Given the description of an element on the screen output the (x, y) to click on. 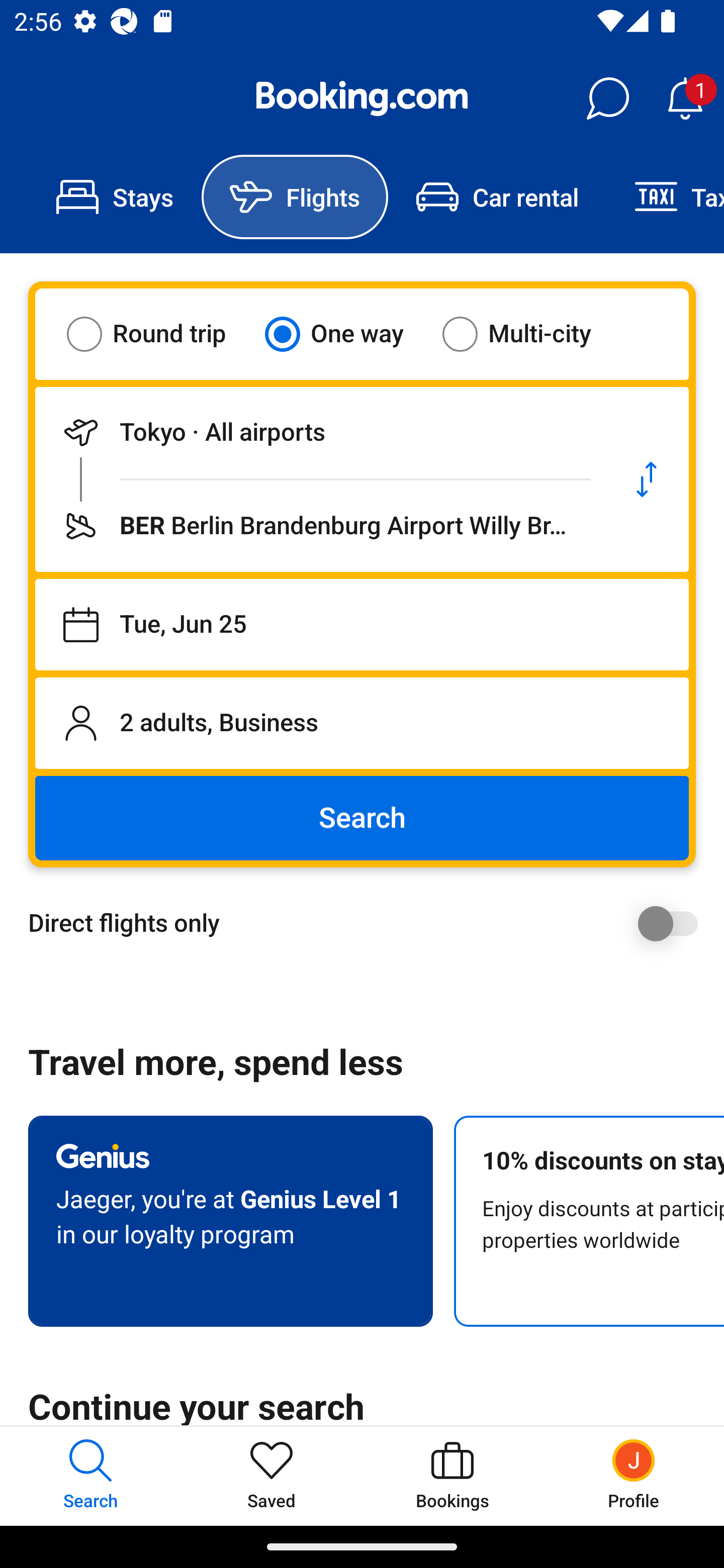
Messages (607, 98)
Notifications (685, 98)
Stays (114, 197)
Flights (294, 197)
Car rental (497, 197)
Taxi (665, 197)
Round trip (158, 333)
Multi-city (528, 333)
Departing from Tokyo · All airports (319, 432)
Swap departure location and destination (646, 479)
Departing on Tue, Jun 25 (361, 624)
2 adults, Business (361, 722)
Search (361, 818)
Direct flights only (369, 923)
Saved (271, 1475)
Bookings (452, 1475)
Profile (633, 1475)
